Given the description of an element on the screen output the (x, y) to click on. 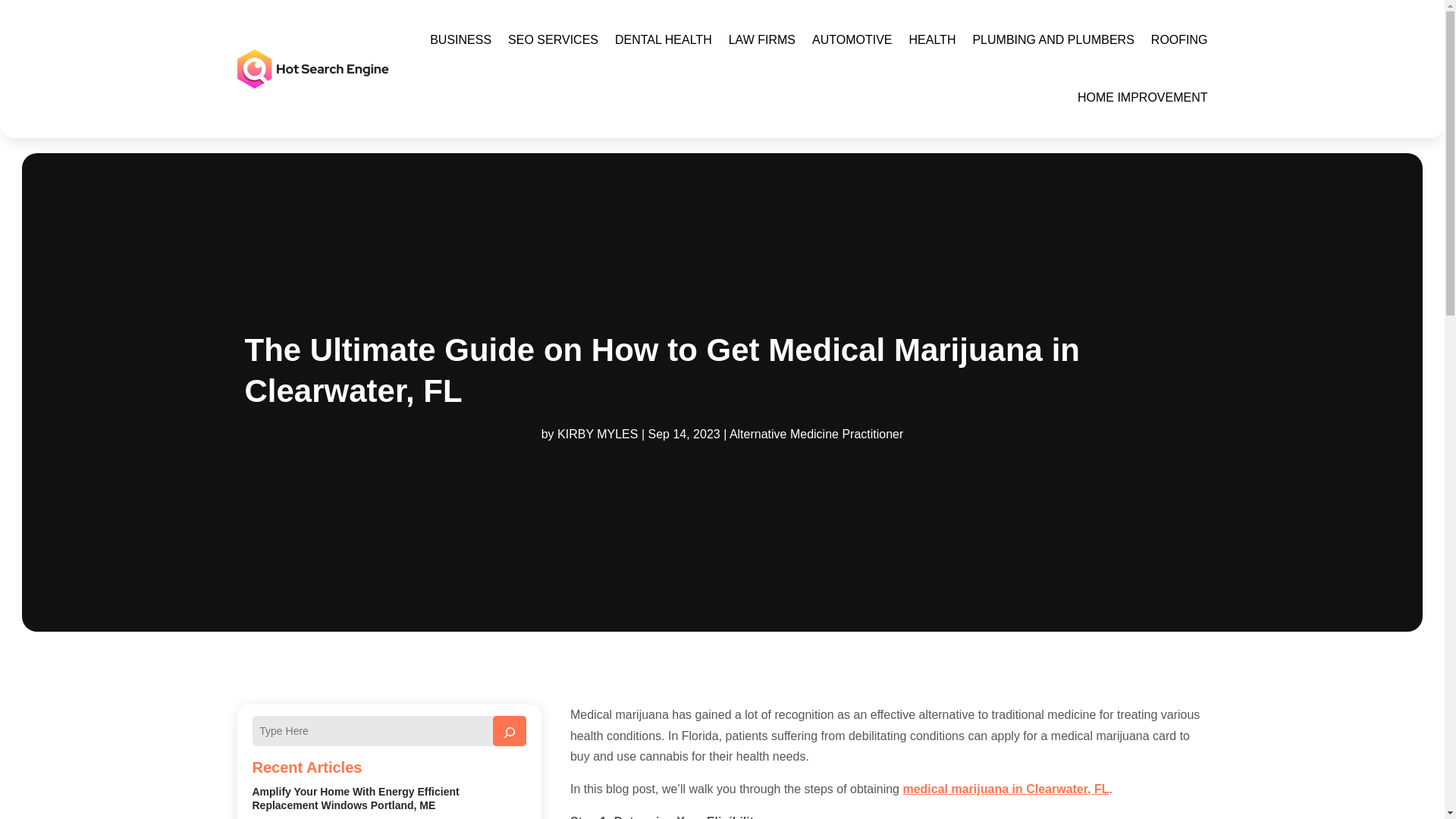
ROOFING (1179, 39)
BUSINESS (460, 39)
DENTAL HEALTH (662, 39)
HOME IMPROVEMENT (1142, 97)
KIRBY MYLES (597, 433)
SEO SERVICES (553, 39)
Alternative Medicine Practitioner (815, 433)
LAW FIRMS (761, 39)
Posts by KIRBY MYLES (597, 433)
AUTOMOTIVE (852, 39)
PLUMBING AND PLUMBERS (1053, 39)
